Given the description of an element on the screen output the (x, y) to click on. 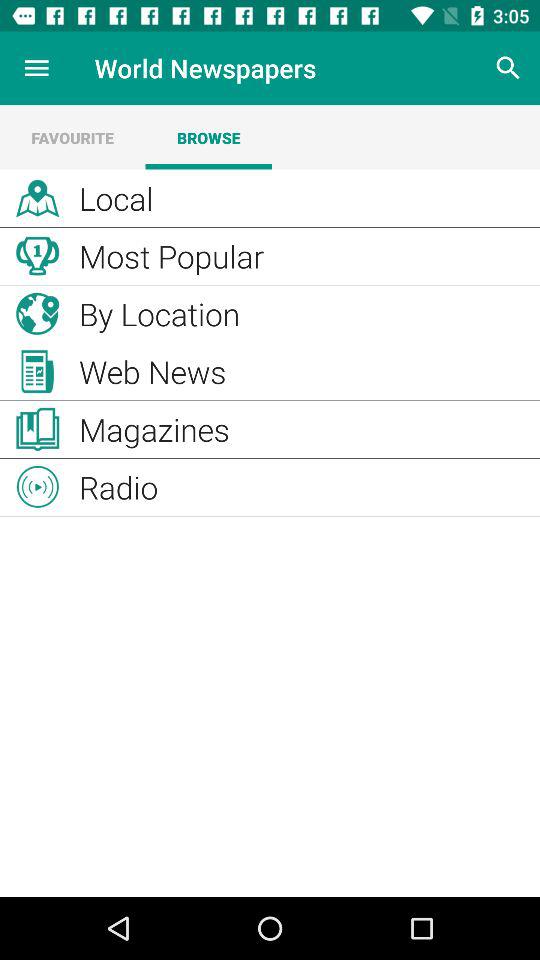
search newspaper options (508, 67)
